Given the description of an element on the screen output the (x, y) to click on. 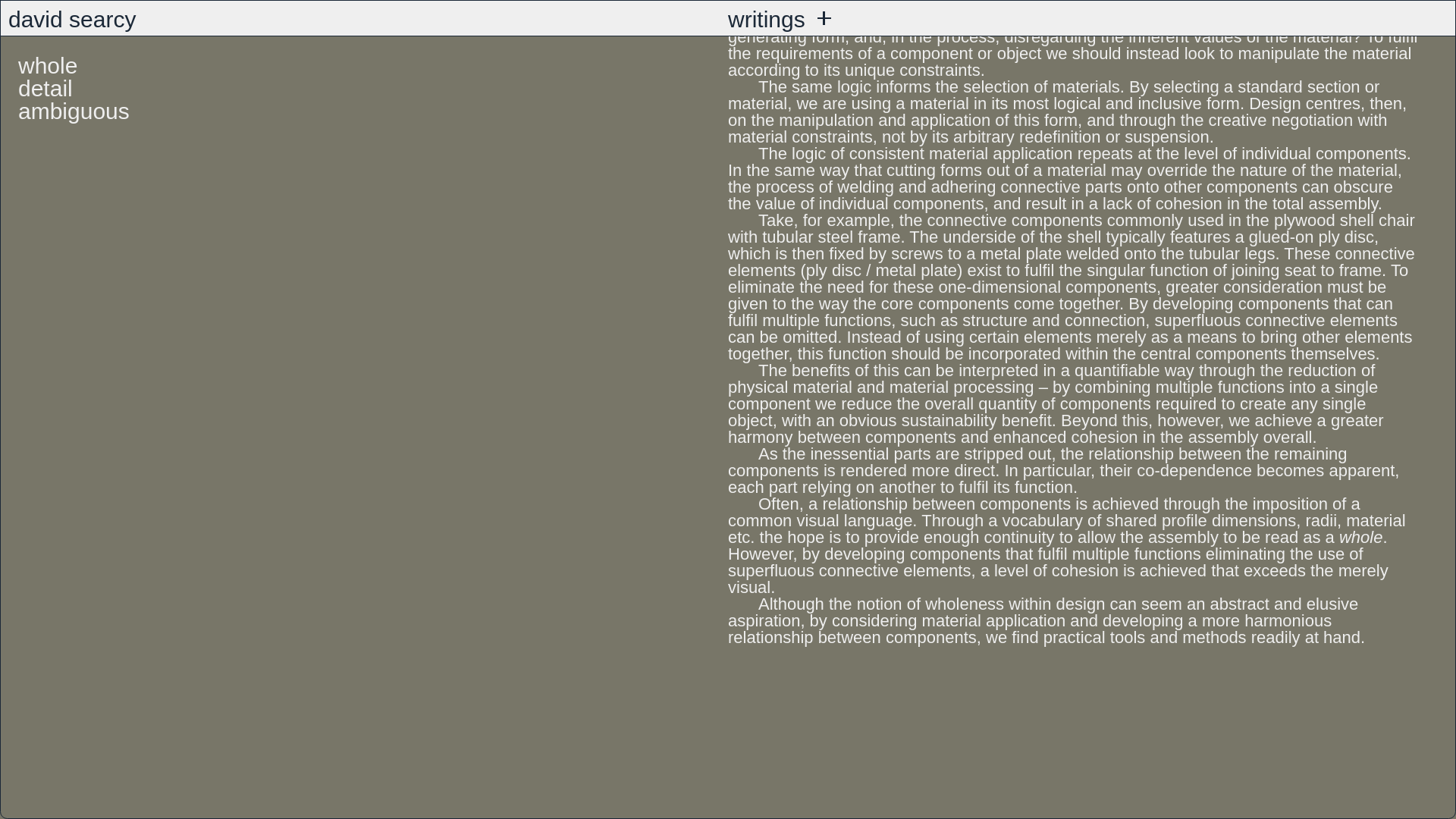
ambiguous (73, 7)
